Given the description of an element on the screen output the (x, y) to click on. 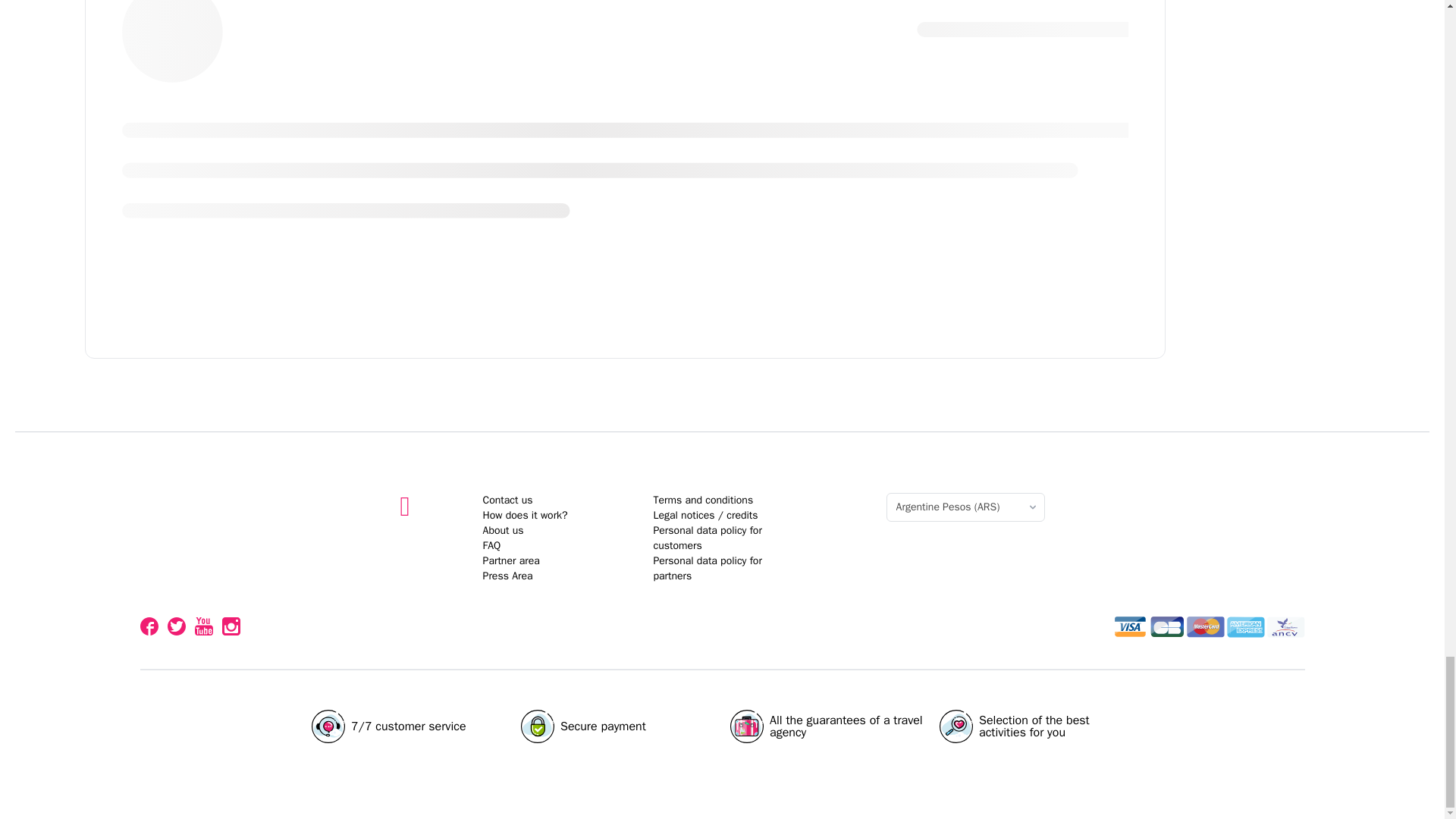
Contact us (507, 499)
How does it work? (721, 613)
